Given the description of an element on the screen output the (x, y) to click on. 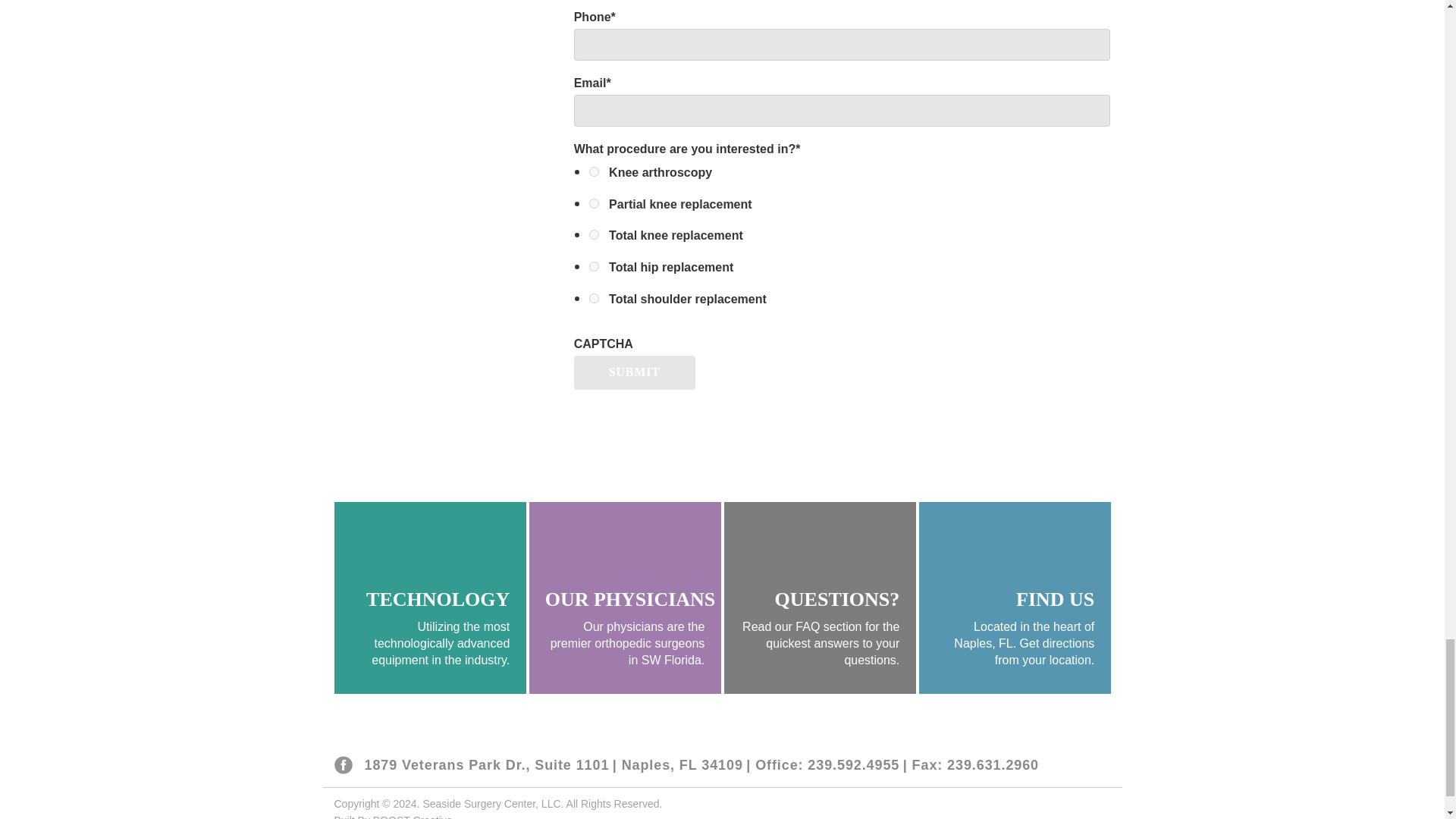
Total knee replacement (593, 234)
Partial knee replacement (593, 203)
Knee arthroscopy (593, 171)
Total shoulder replacement (593, 298)
Total hip replacement (593, 266)
Submit (634, 372)
